Given the description of an element on the screen output the (x, y) to click on. 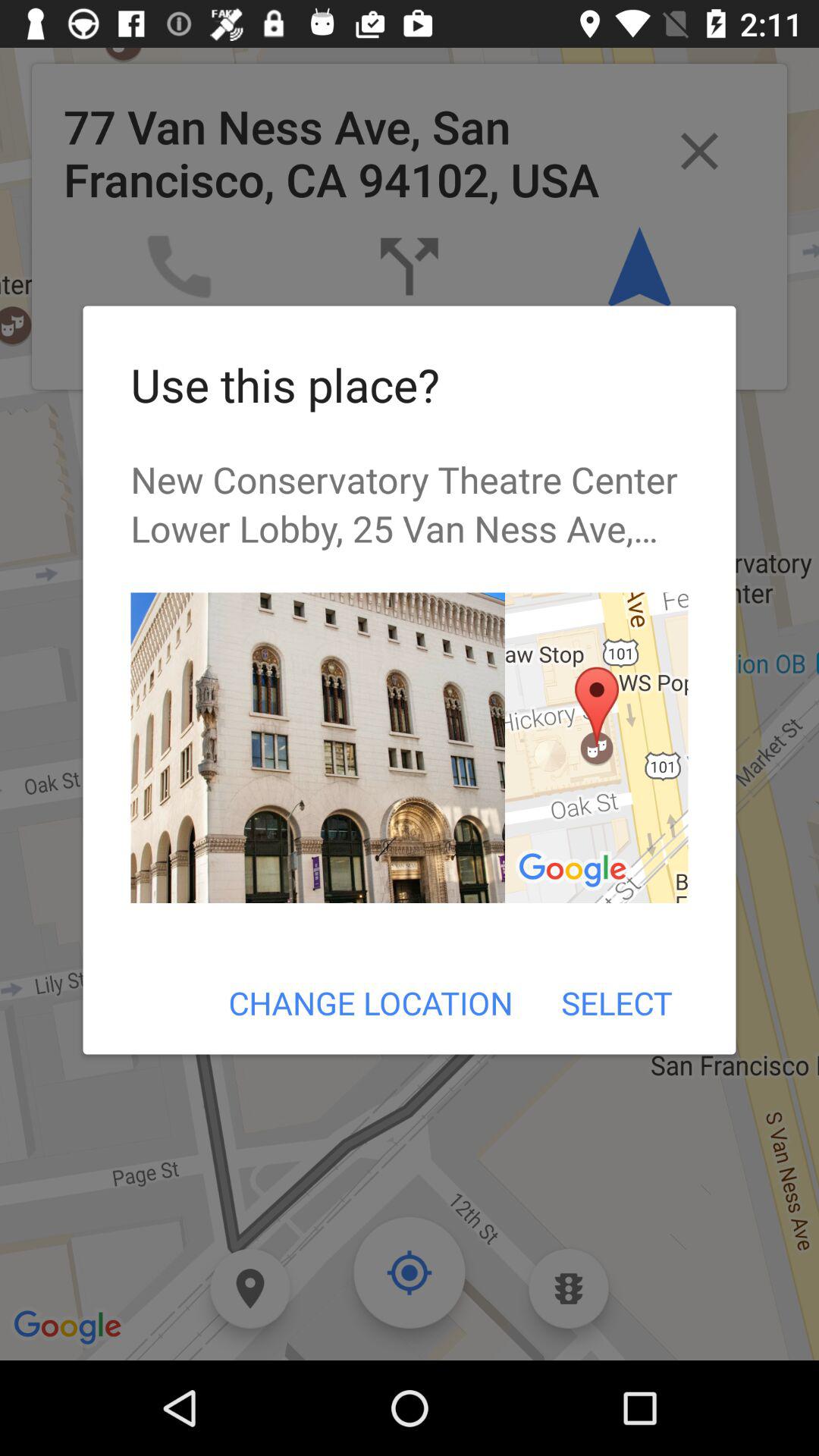
launch icon below the lower lobby 25 item (596, 747)
